Given the description of an element on the screen output the (x, y) to click on. 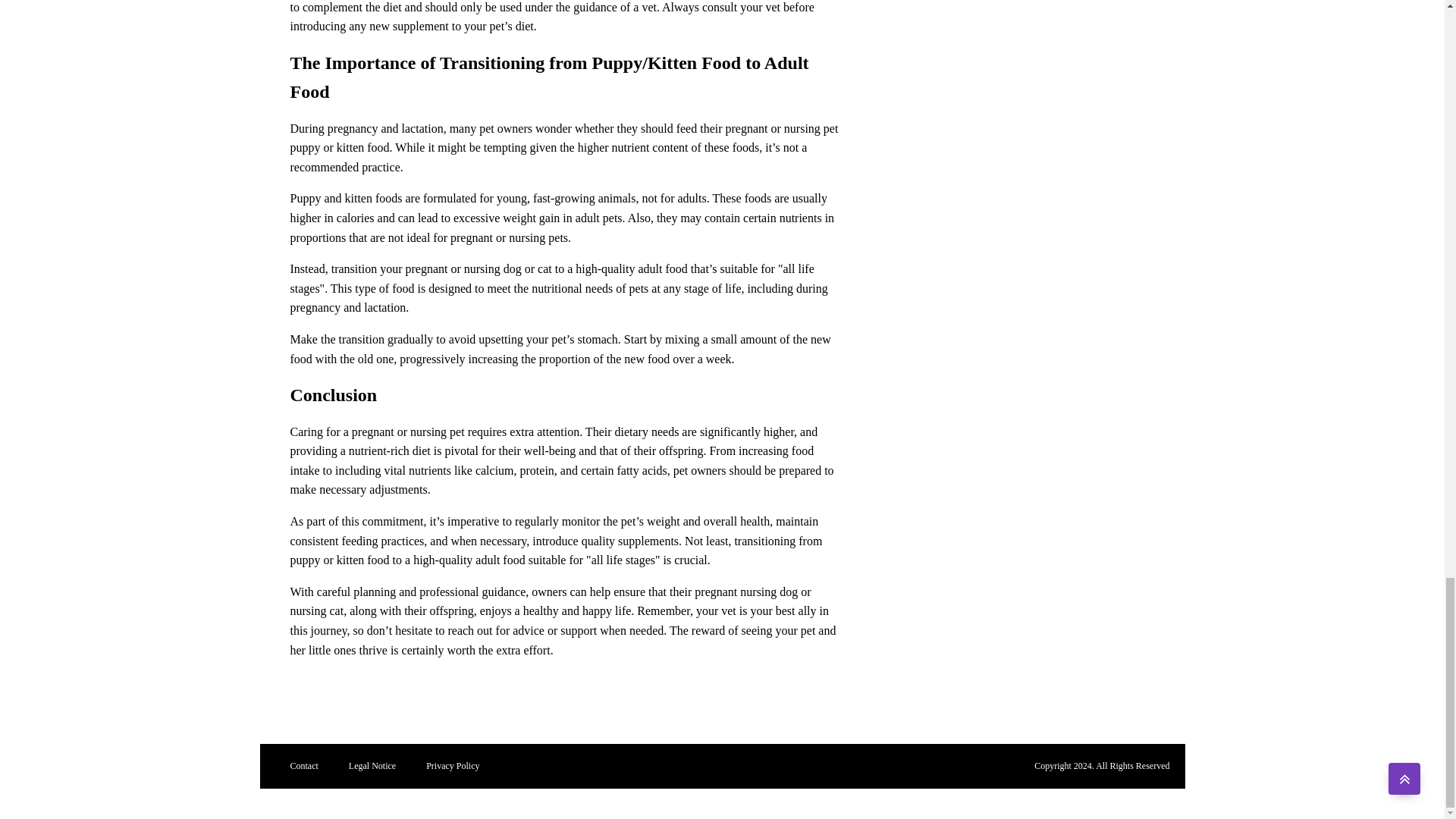
Privacy Policy (452, 766)
Contact (304, 766)
Legal Notice (371, 766)
